Given the description of an element on the screen output the (x, y) to click on. 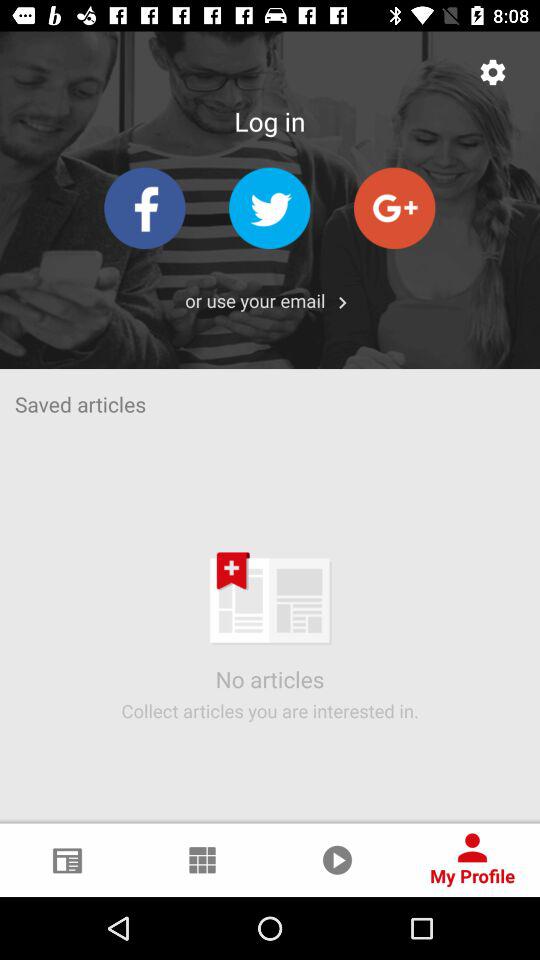
logar com o twitter (269, 208)
